Given the description of an element on the screen output the (x, y) to click on. 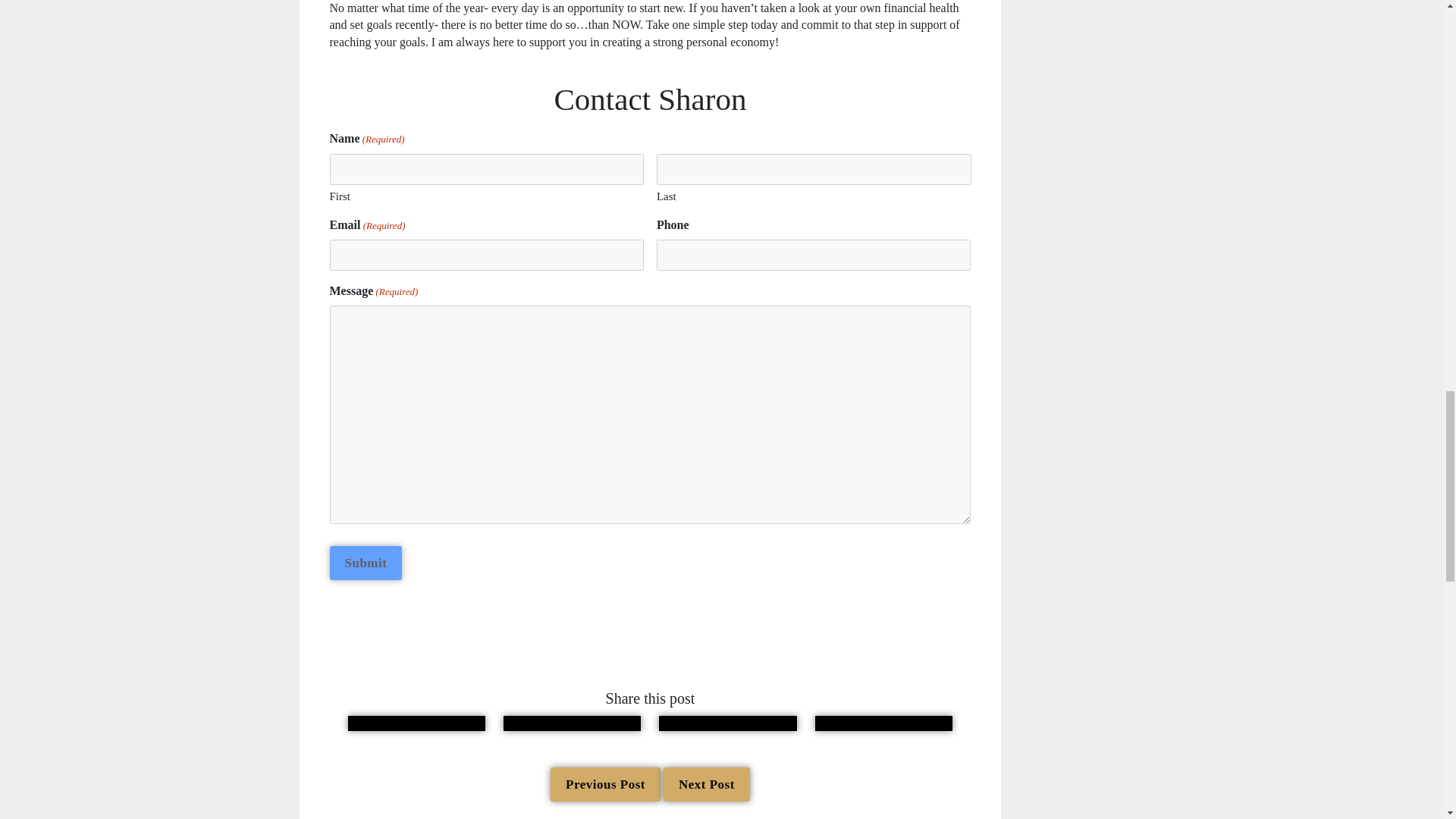
Previous Post (605, 784)
Submit (365, 563)
Submit (365, 563)
Next Post (706, 784)
